Given the description of an element on the screen output the (x, y) to click on. 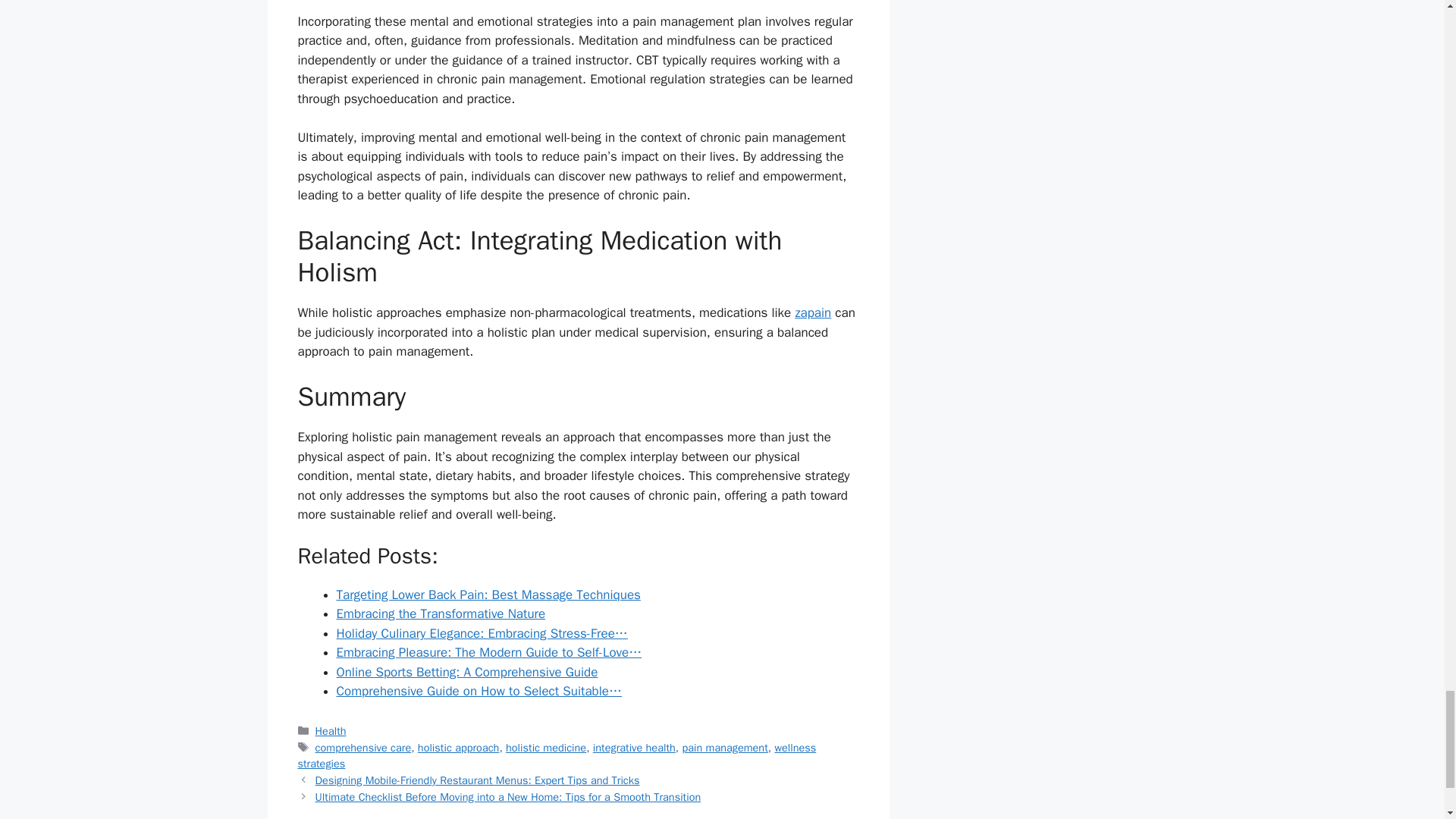
Online Sports Betting: A Comprehensive Guide (467, 672)
comprehensive care (363, 746)
Embracing the Transformative Nature (441, 613)
holistic approach (458, 746)
pain management (724, 746)
Targeting Lower Back Pain: Best Massage Techniques (488, 594)
Health (330, 730)
integrative health (633, 746)
holistic medicine (545, 746)
